Given the description of an element on the screen output the (x, y) to click on. 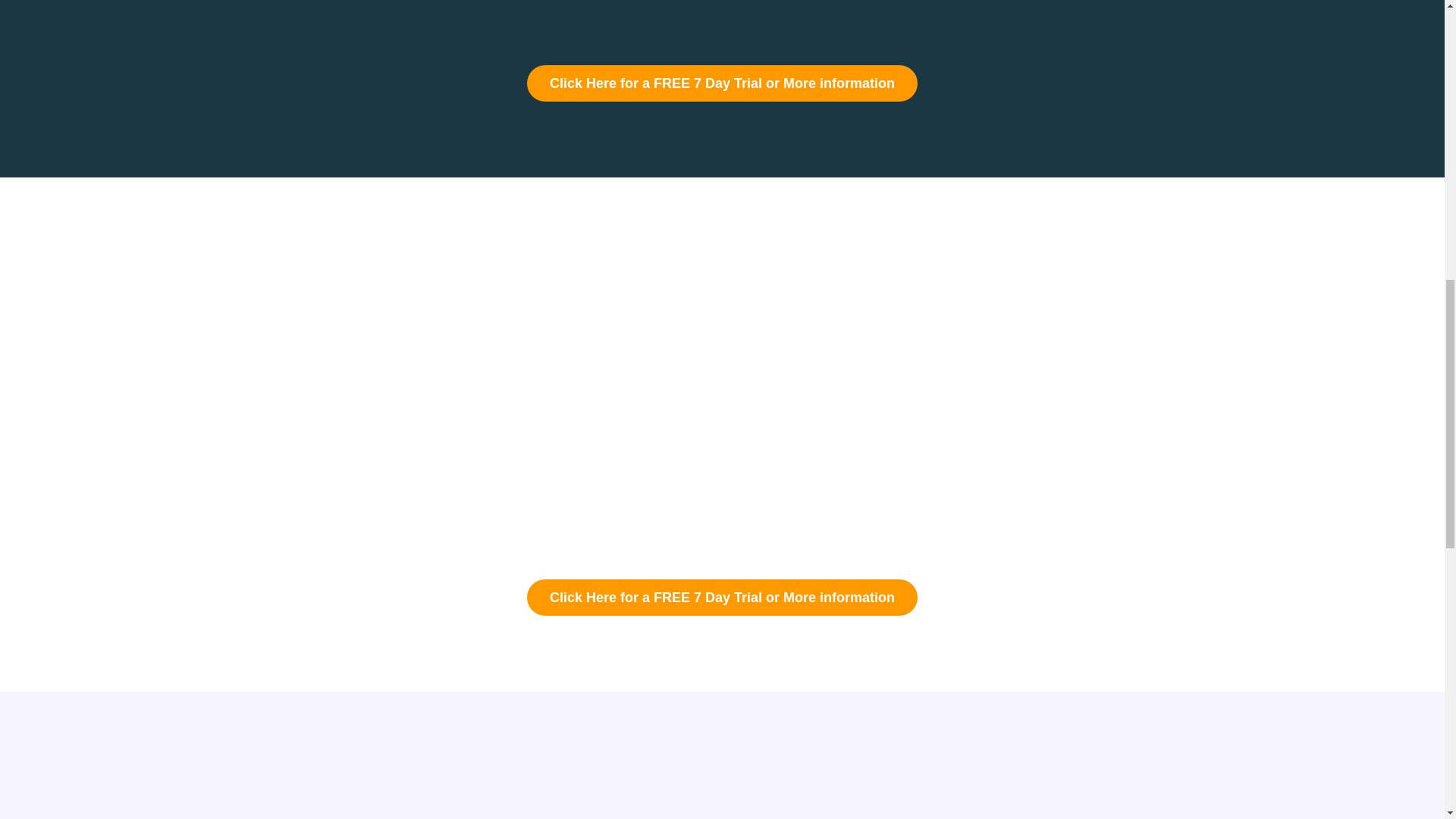
Click Here for a FREE 7 Day Trial or More information (722, 597)
Click Here for a FREE 7 Day Trial or More information (722, 83)
